Given the description of an element on the screen output the (x, y) to click on. 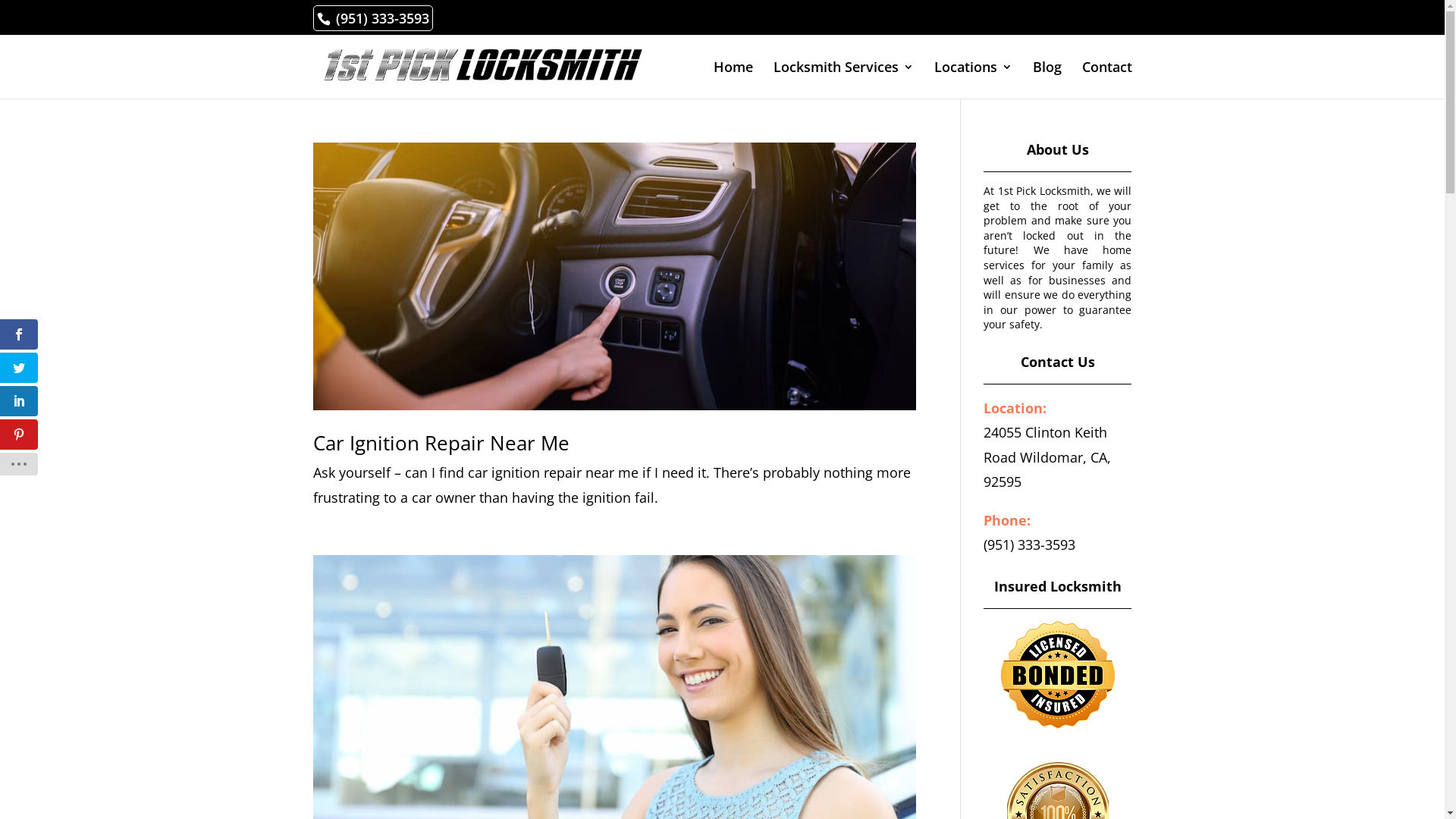
Car Ignition Repair Near Me Element type: text (440, 442)
Locations Element type: text (973, 79)
Home Element type: text (732, 79)
Locksmith Services Element type: text (843, 79)
(951) 333-3593 Element type: text (377, 18)
Contact Element type: text (1106, 79)
Blog Element type: text (1046, 79)
